Given the description of an element on the screen output the (x, y) to click on. 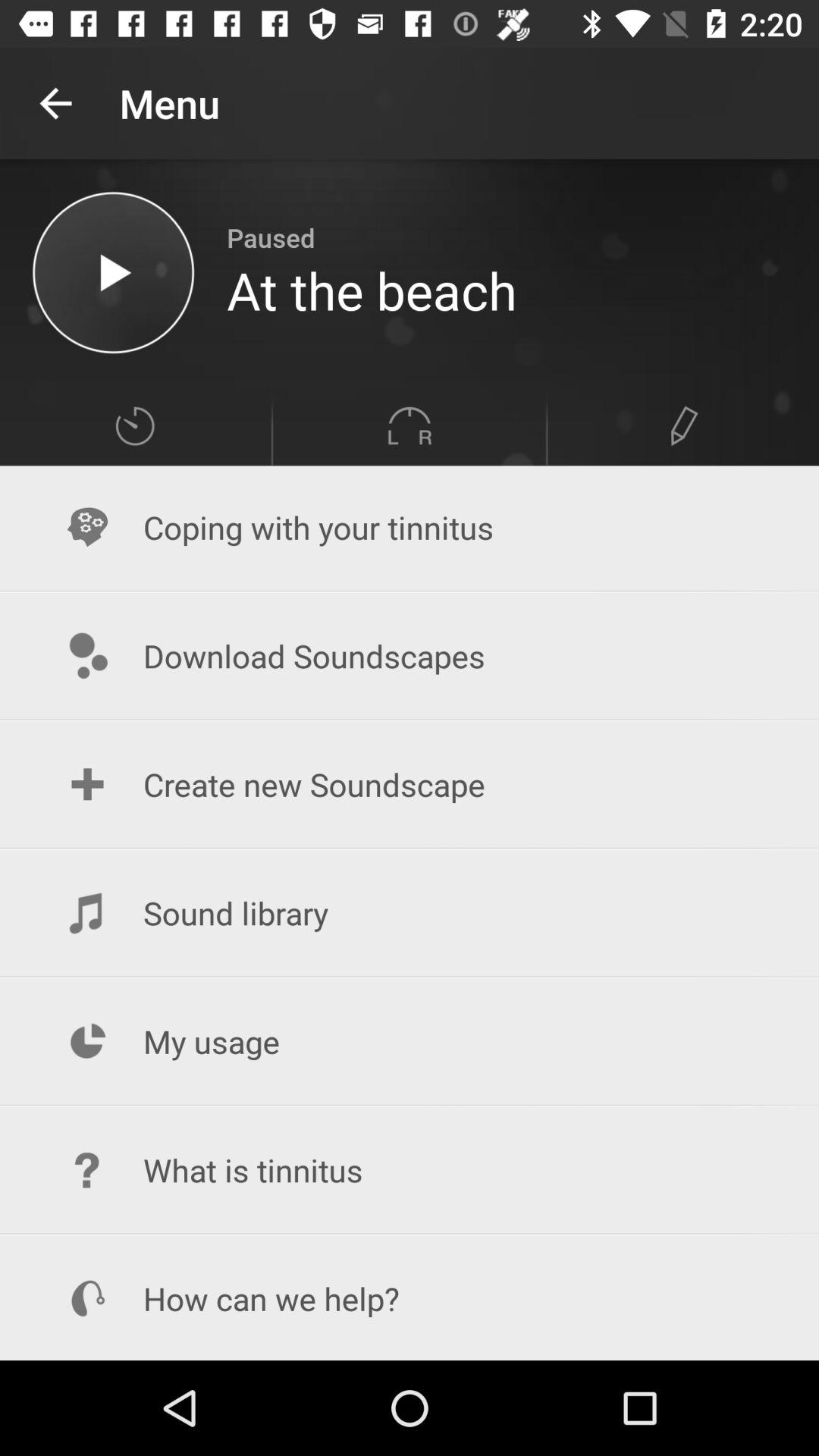
turn off the create new soundscape (409, 784)
